Given the description of an element on the screen output the (x, y) to click on. 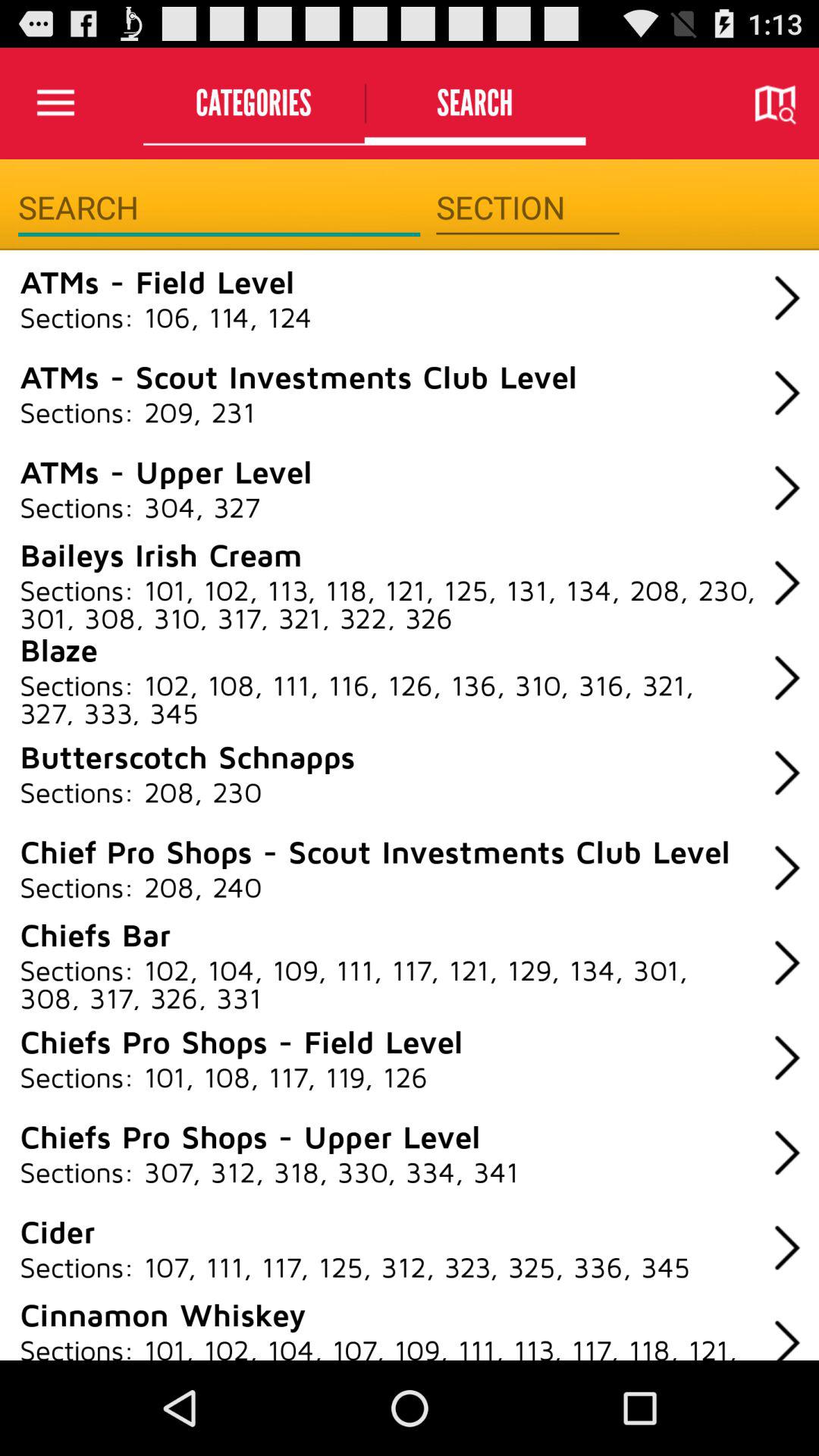
tap item above the sections: 208, 230 icon (186, 756)
